Given the description of an element on the screen output the (x, y) to click on. 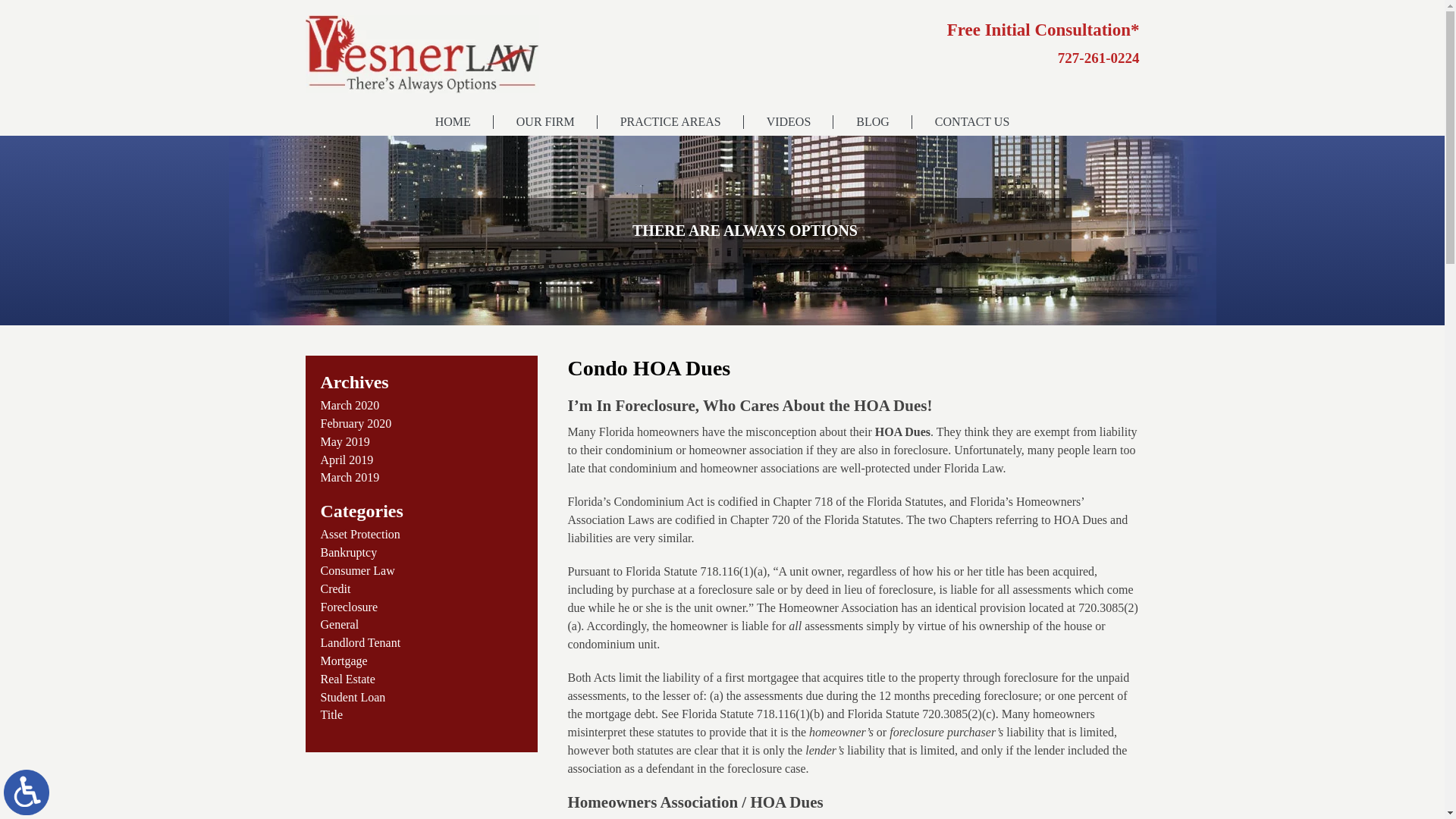
VIDEOS (789, 121)
OUR FIRM (544, 121)
HOME (452, 121)
Switch to ADA Accessible Theme (26, 791)
CONTACT US (972, 121)
PRACTICE AREAS (670, 121)
727-261-0224 (1099, 14)
BLOG (872, 121)
